Given the description of an element on the screen output the (x, y) to click on. 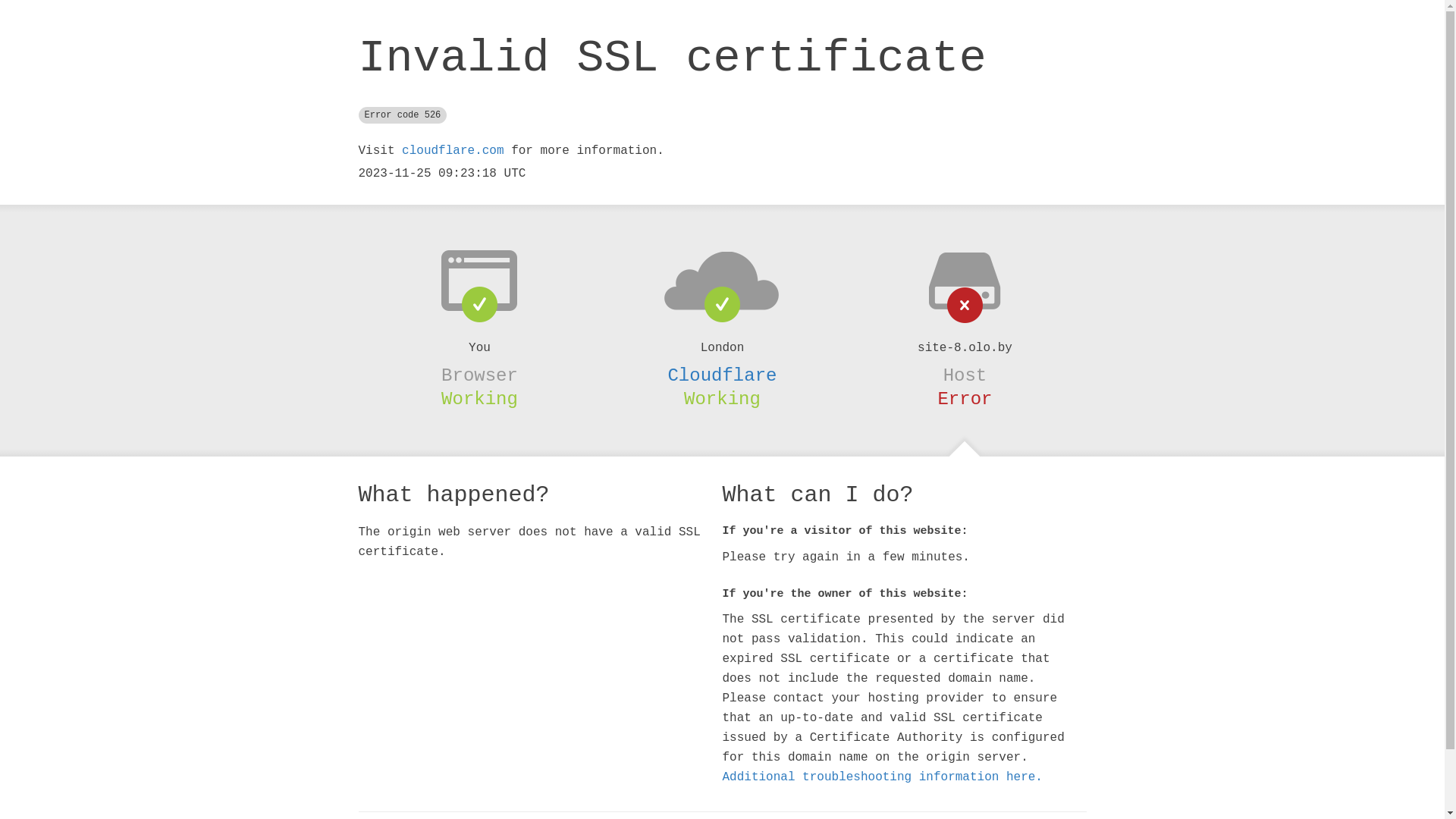
Additional troubleshooting information here. Element type: text (881, 777)
Cloudflare Element type: text (721, 375)
cloudflare.com Element type: text (452, 150)
